Given the description of an element on the screen output the (x, y) to click on. 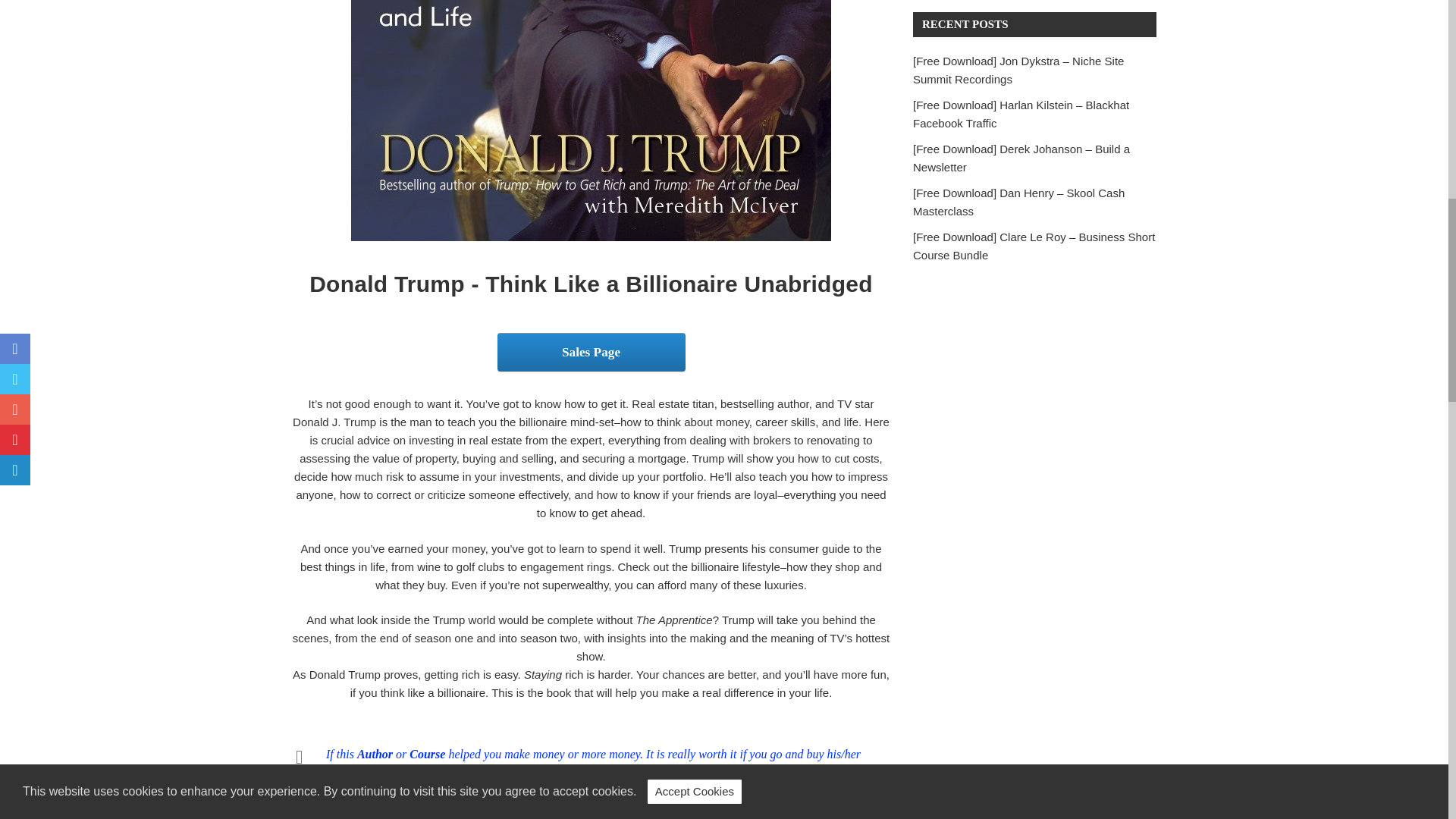
Sales Page (590, 352)
